Given the description of an element on the screen output the (x, y) to click on. 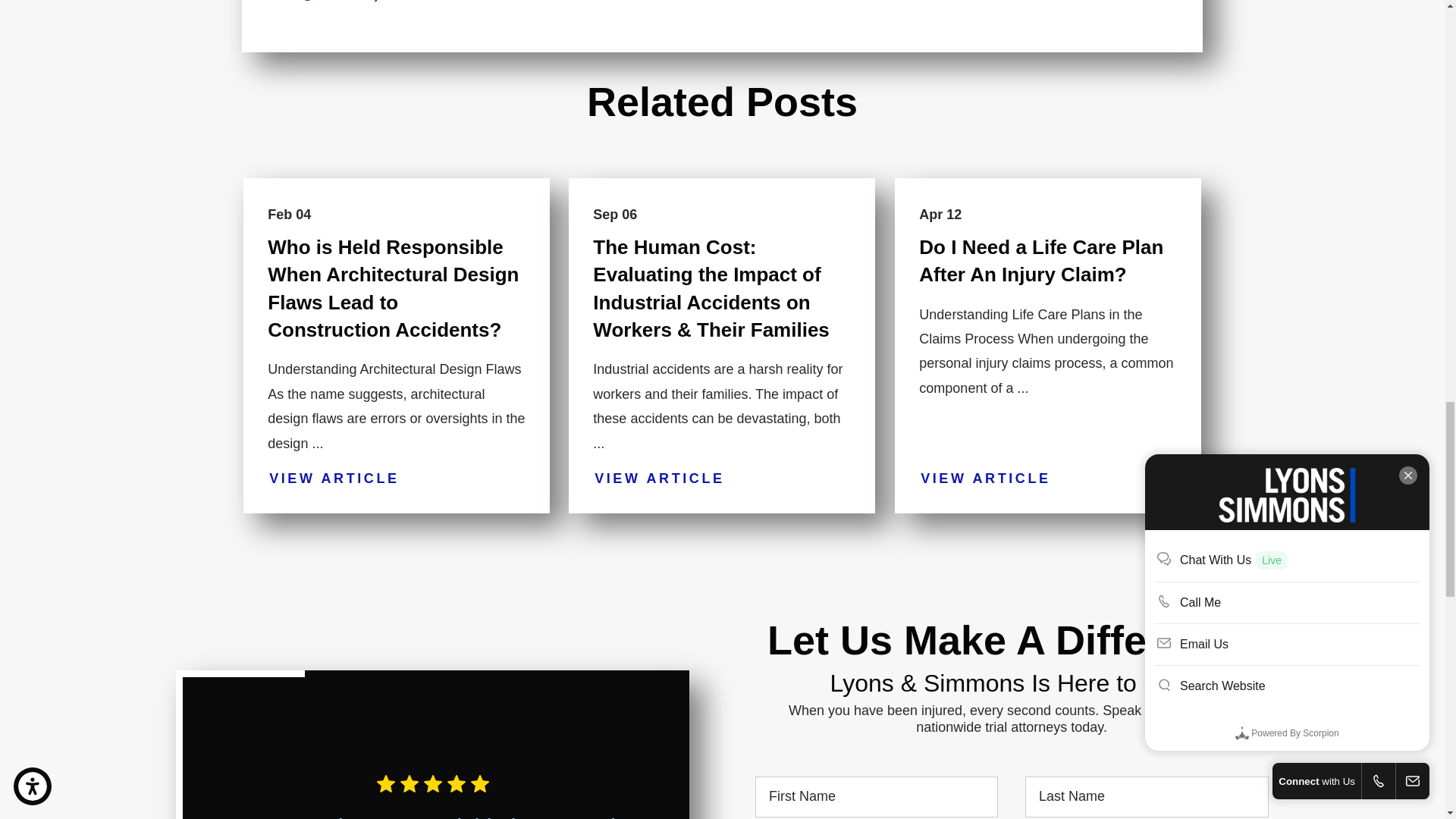
5 Star Rating (433, 783)
5 Star Rating (844, 773)
